Given the description of an element on the screen output the (x, y) to click on. 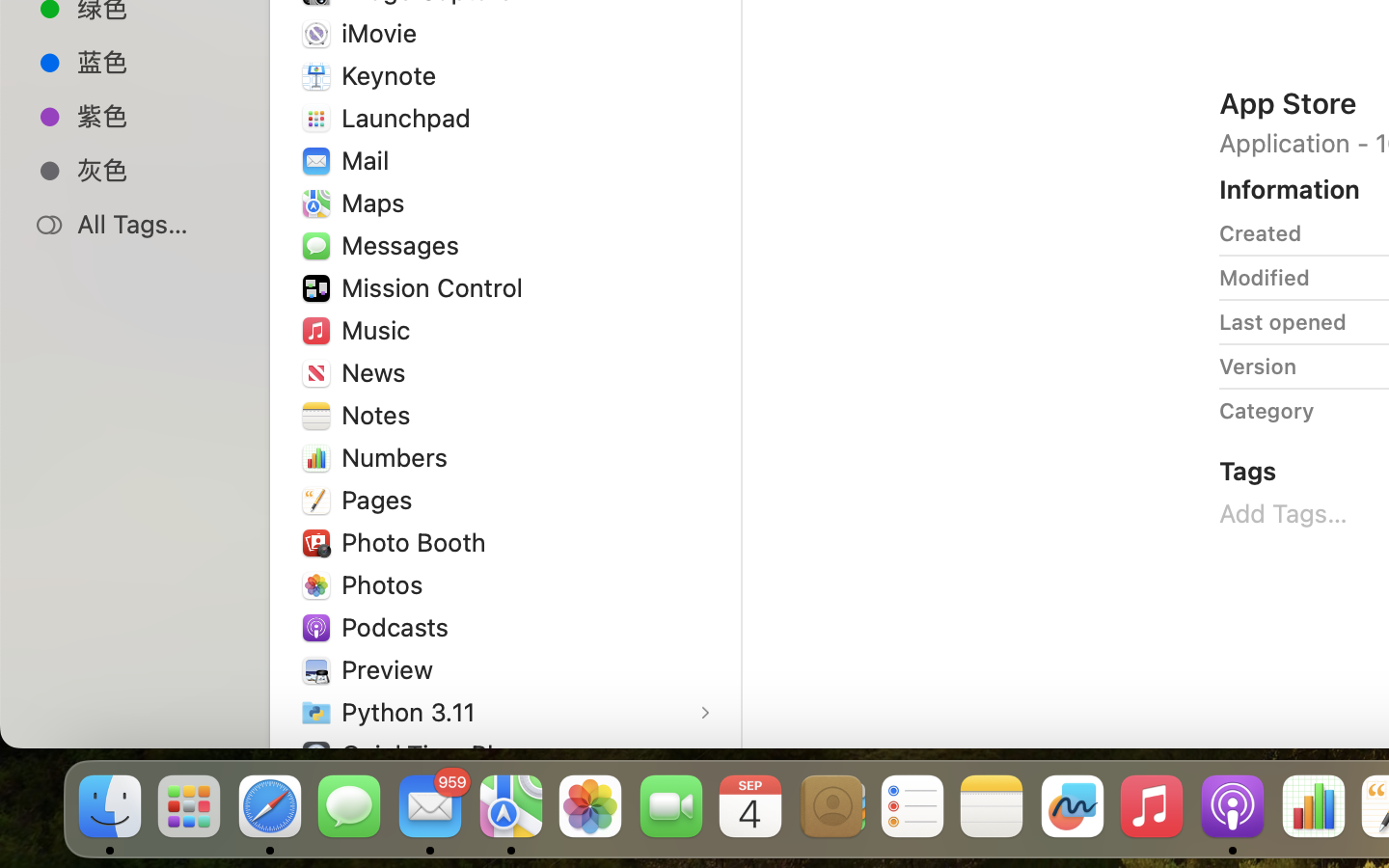
Photo Booth Element type: AXTextField (417, 541)
Music Element type: AXTextField (379, 329)
Python 3.11 Element type: AXTextField (412, 711)
Pages Element type: AXTextField (380, 499)
Version Element type: AXStaticText (1257, 365)
